Given the description of an element on the screen output the (x, y) to click on. 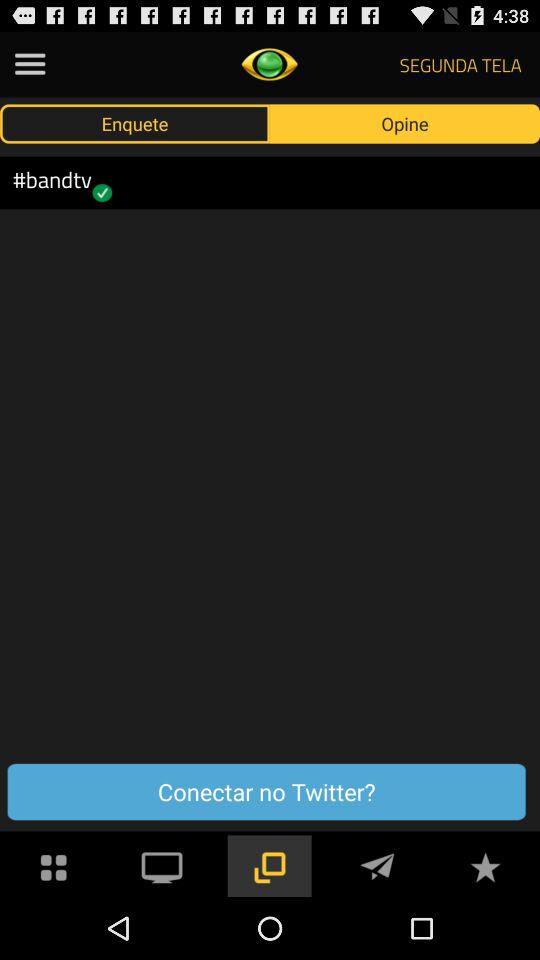
select enquete icon (135, 123)
